Given the description of an element on the screen output the (x, y) to click on. 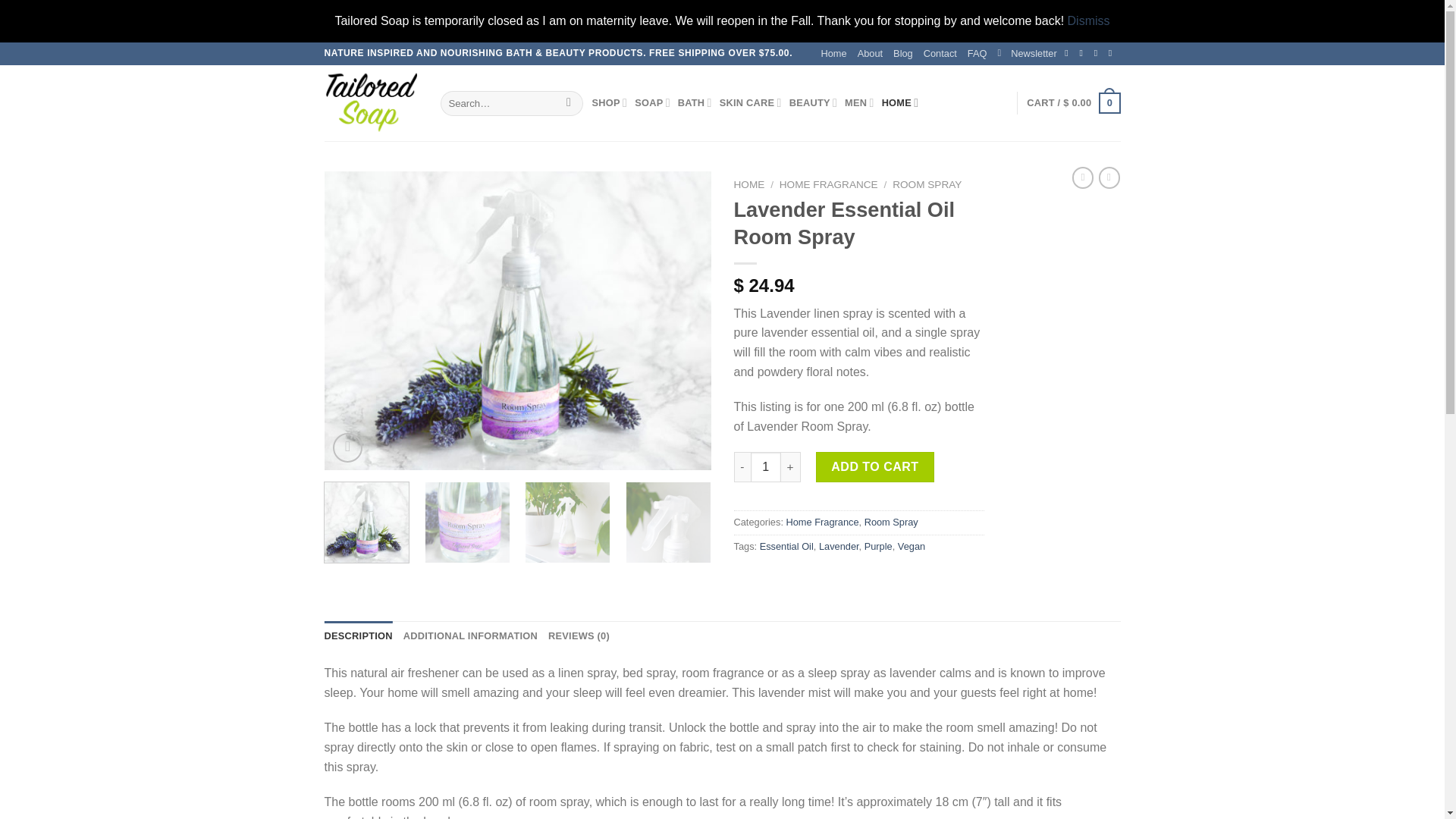
About (869, 53)
SHOP (609, 102)
Search (568, 103)
Cart (1072, 102)
1 (765, 467)
Newsletter (1027, 53)
Lavender Essential Oil Room Spray by Tailored Soap (517, 320)
Original price:0 (1076, 102)
Home (834, 53)
Dismiss (1088, 20)
